Given the description of an element on the screen output the (x, y) to click on. 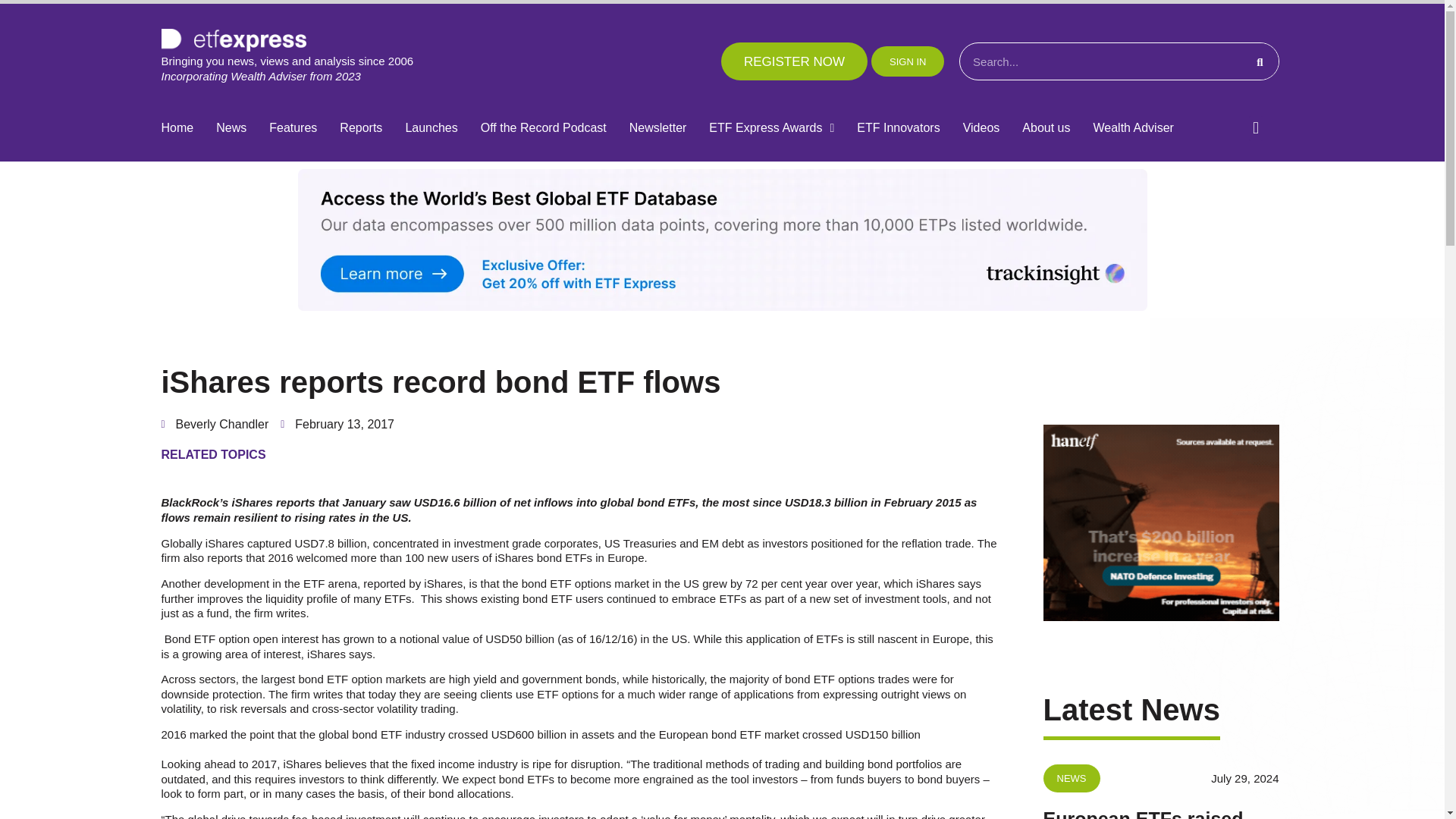
SIGN IN (906, 60)
REGISTER NOW (793, 61)
